Given the description of an element on the screen output the (x, y) to click on. 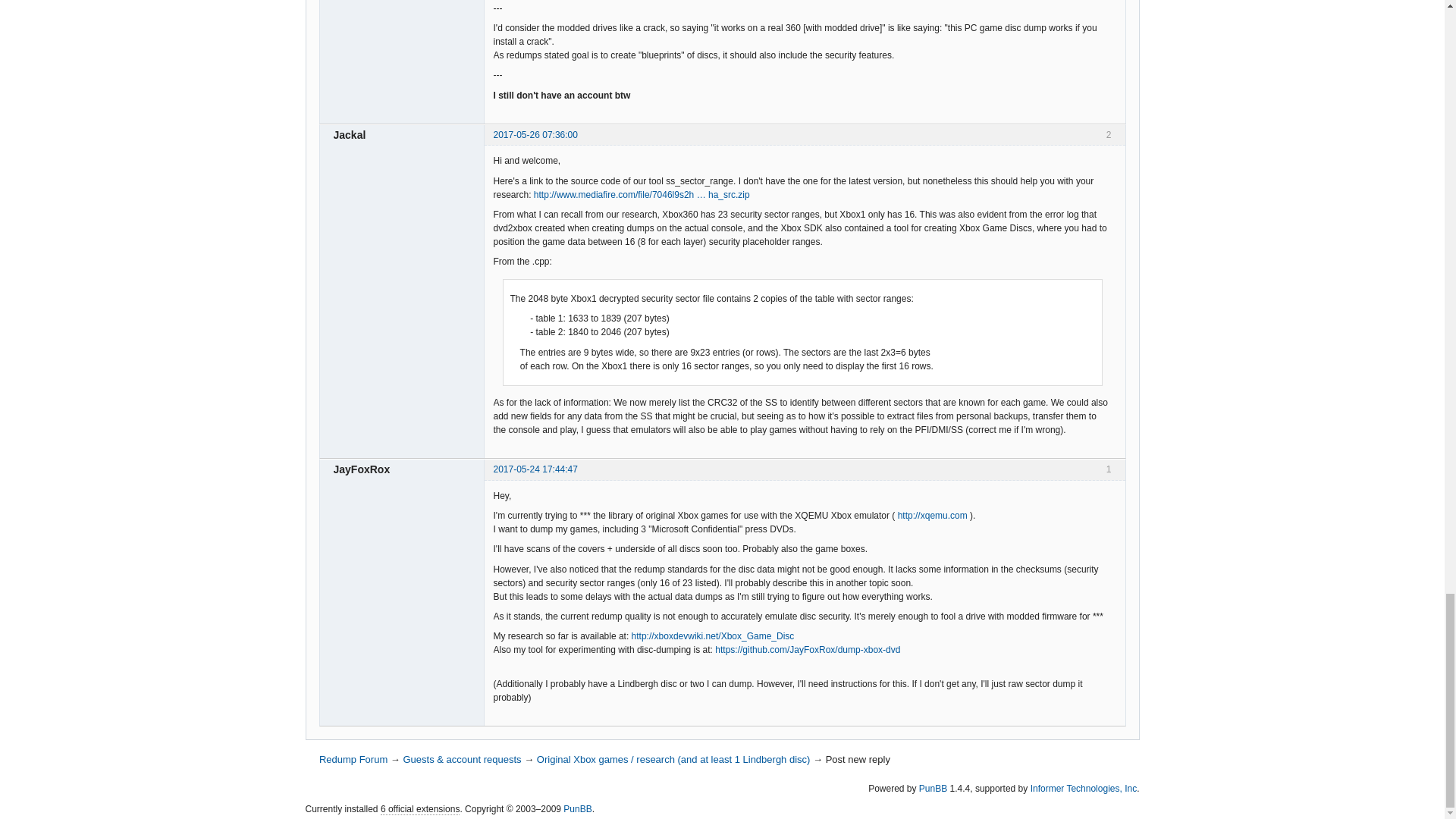
2017-05-24 17:44:47 (534, 469)
2017-05-26 07:36:00 (534, 134)
Informer Technologies, Inc (1083, 787)
Redump Forum (352, 758)
PunBB (932, 787)
